Given the description of an element on the screen output the (x, y) to click on. 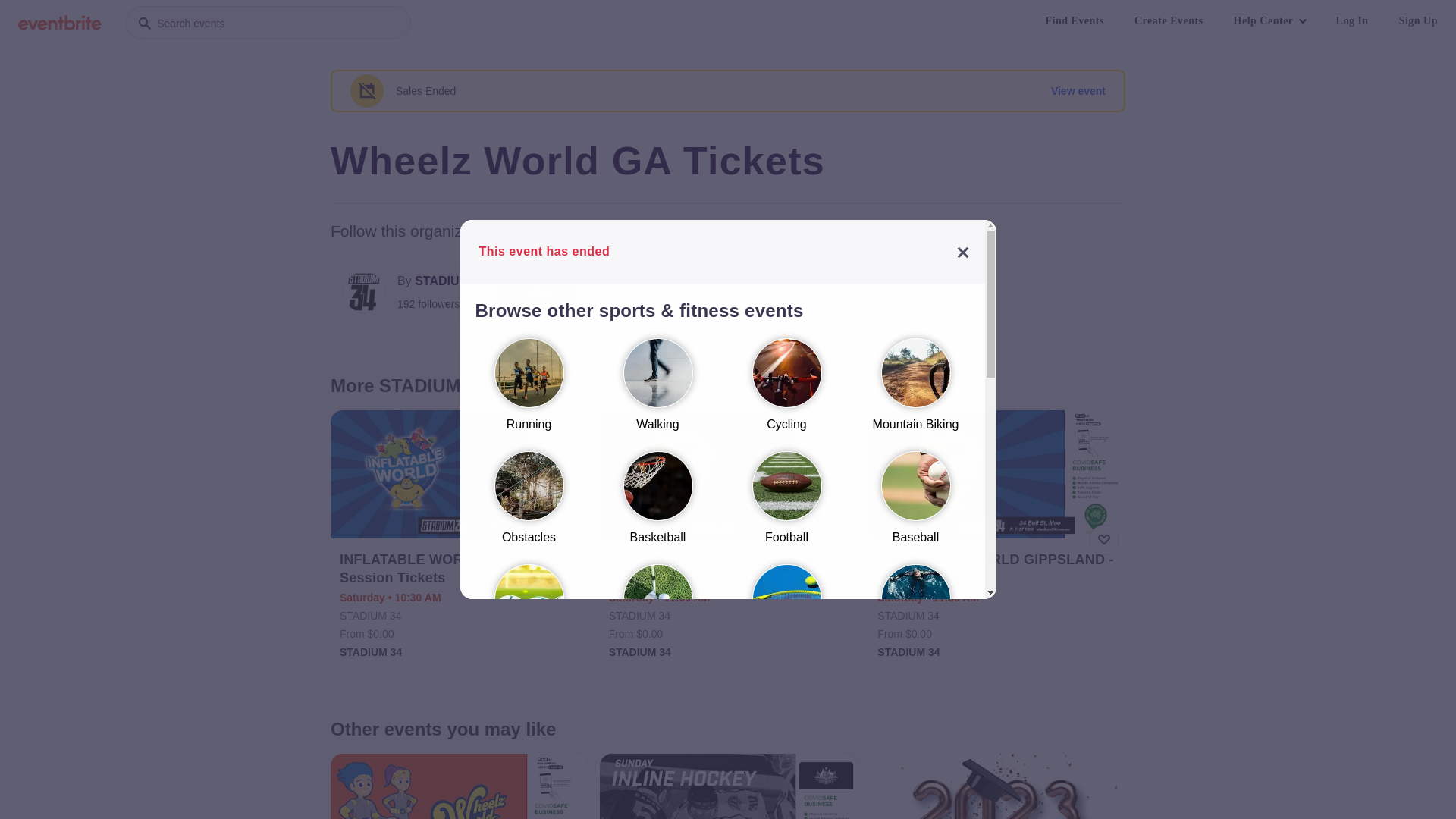
Motorsports Element type: text (657, 748)
Create Events Element type: text (1168, 21)
Eventbrite Element type: hover (59, 22)
View event Element type: text (1078, 90)
Fighting & Martial Arts Element type: text (785, 748)
Running Element type: text (528, 391)
INFLATABLE WORLD GIPPSLAND - Session Tickets Element type: text (729, 568)
Basketball Element type: text (657, 504)
Log In Element type: text (1352, 21)
Hockey Element type: text (528, 748)
Cycling Element type: text (785, 391)
Baseball Element type: text (914, 504)
Walking Element type: text (657, 391)
Sign Up Element type: text (1417, 21)
Swimming & Water Sports Element type: text (914, 626)
Golf Element type: text (657, 626)
INFLATABLE WORLD GIPPSLAND - Session Tickets Element type: text (460, 568)
Search events Element type: text (268, 22)
Follow Element type: text (539, 291)
Snow Sports Element type: text (914, 748)
Tennis Element type: text (785, 626)
Obstacles Element type: text (528, 504)
Find Events Element type: text (1073, 21)
Football Element type: text (785, 504)
Soccer Element type: text (528, 626)
Mountain Biking Element type: text (914, 391)
INFLATABLE WORLD GIPPSLAND - Session Tickets Element type: text (998, 568)
